Given the description of an element on the screen output the (x, y) to click on. 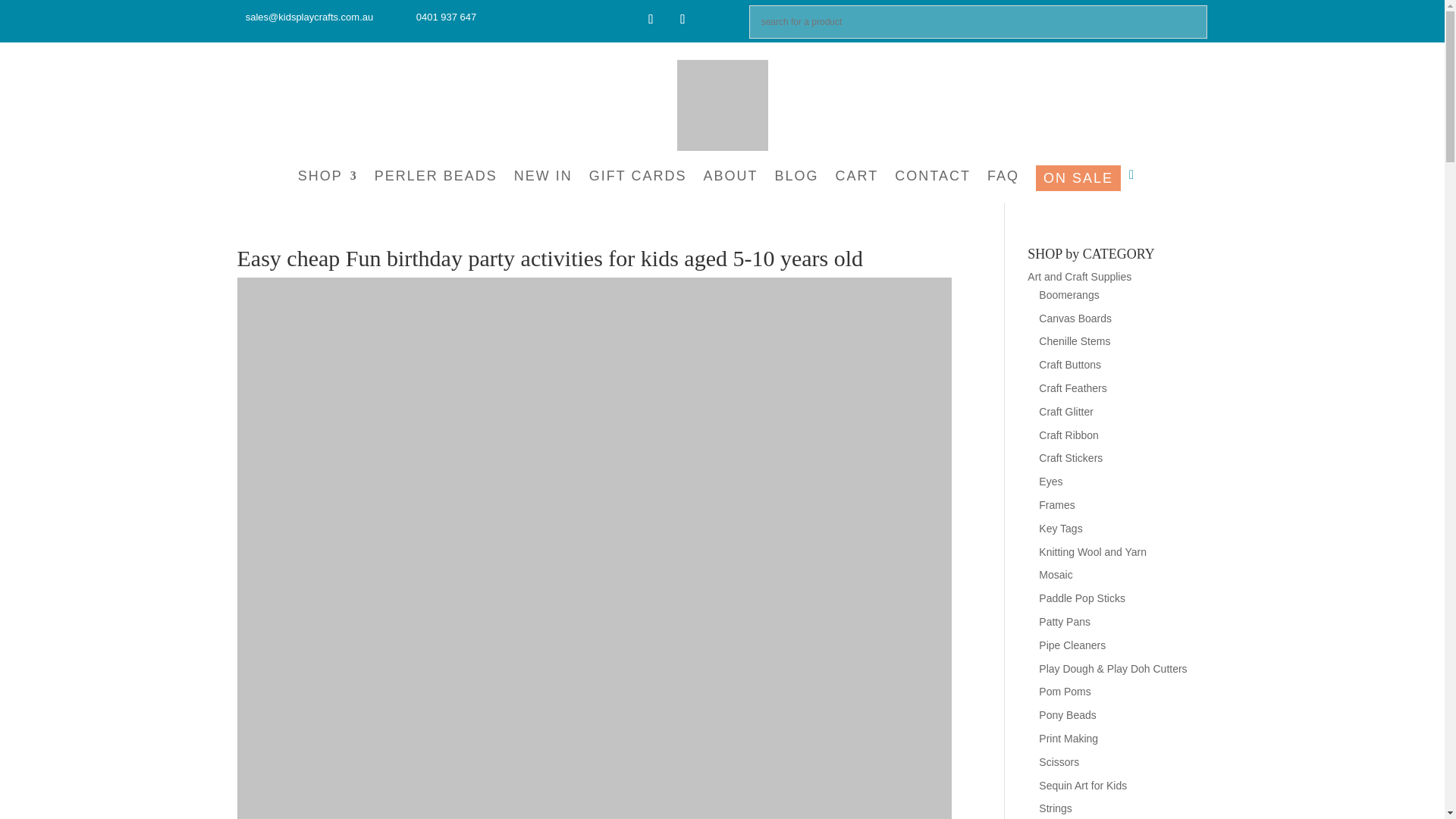
Follow on Facebook (650, 19)
Follow on Instagram (682, 19)
SHOP (328, 180)
